Given the description of an element on the screen output the (x, y) to click on. 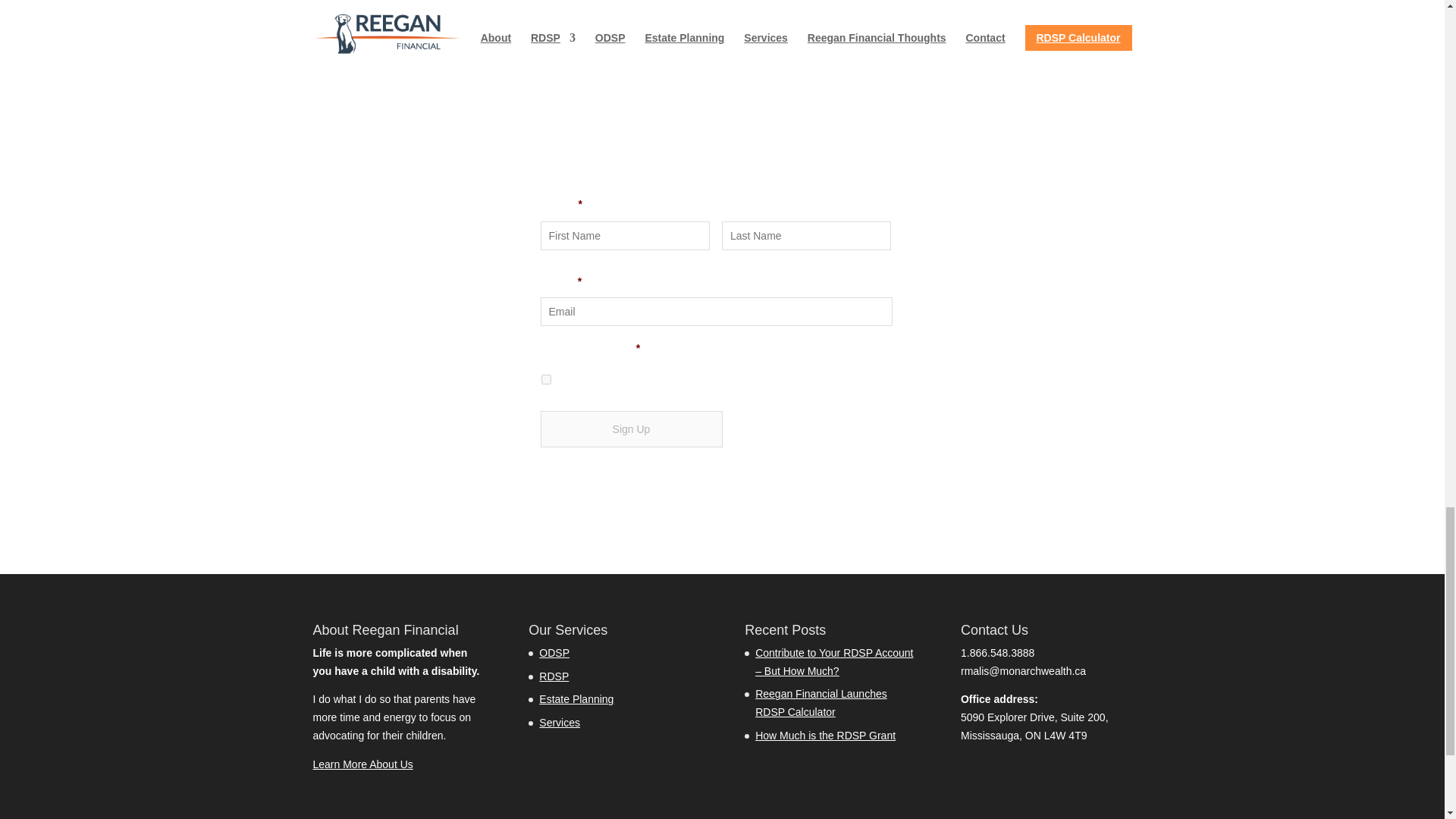
How Much is the RDSP Grant (825, 735)
Learn More About Us (362, 764)
Sign Up (631, 429)
ODSP (553, 653)
Yes (546, 379)
Reegan Financial Launches RDSP Calculator (820, 702)
Estate Planning (575, 698)
Services (558, 722)
RDSP (553, 676)
Sign Up (631, 429)
